Given the description of an element on the screen output the (x, y) to click on. 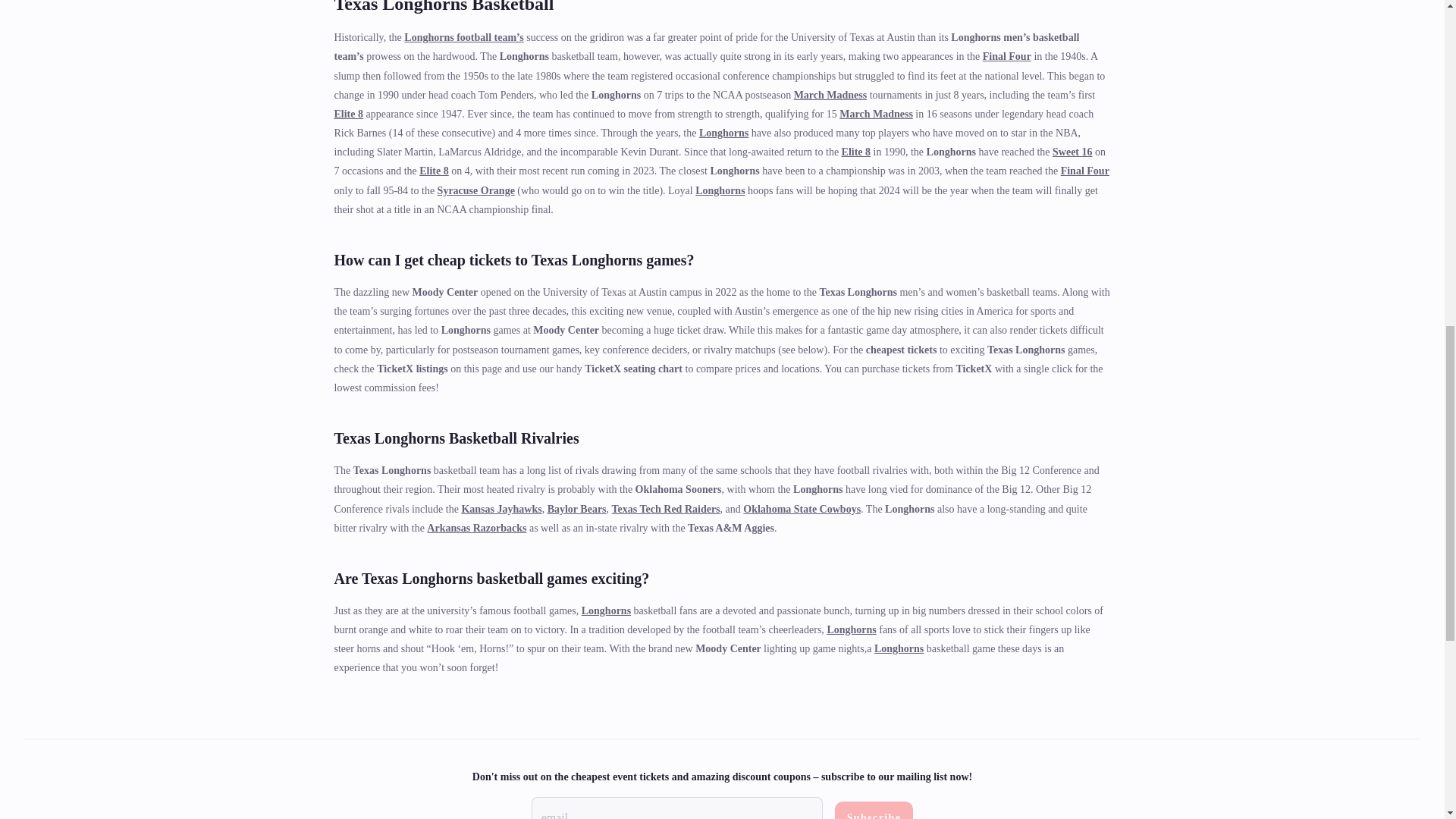
Elite 8 (347, 113)
Baylor Bears (577, 509)
Final Four (1085, 170)
Longhorns (723, 132)
Final Four (1006, 56)
Elite 8 (855, 152)
March Madness (876, 113)
Sweet 16 (1072, 152)
Longhorns (719, 190)
Oklahoma State Cowboys (801, 509)
Elite 8 (433, 170)
Syracuse Orange (476, 190)
Texas Tech Red Raiders (665, 509)
March Madness (830, 94)
Kansas Jayhawks (501, 509)
